Given the description of an element on the screen output the (x, y) to click on. 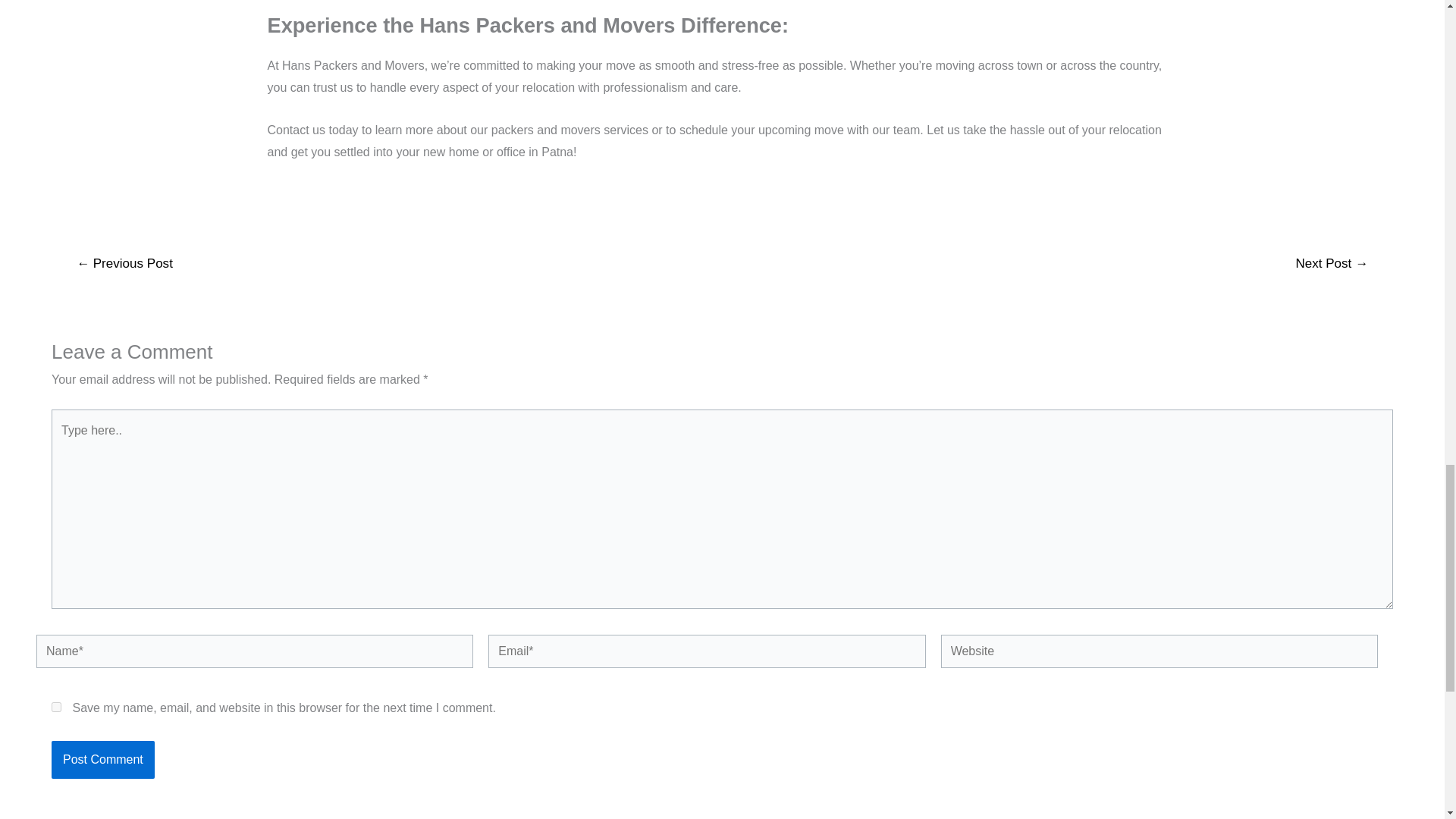
yes (55, 706)
Post Comment (102, 759)
Post Comment (102, 759)
